Given the description of an element on the screen output the (x, y) to click on. 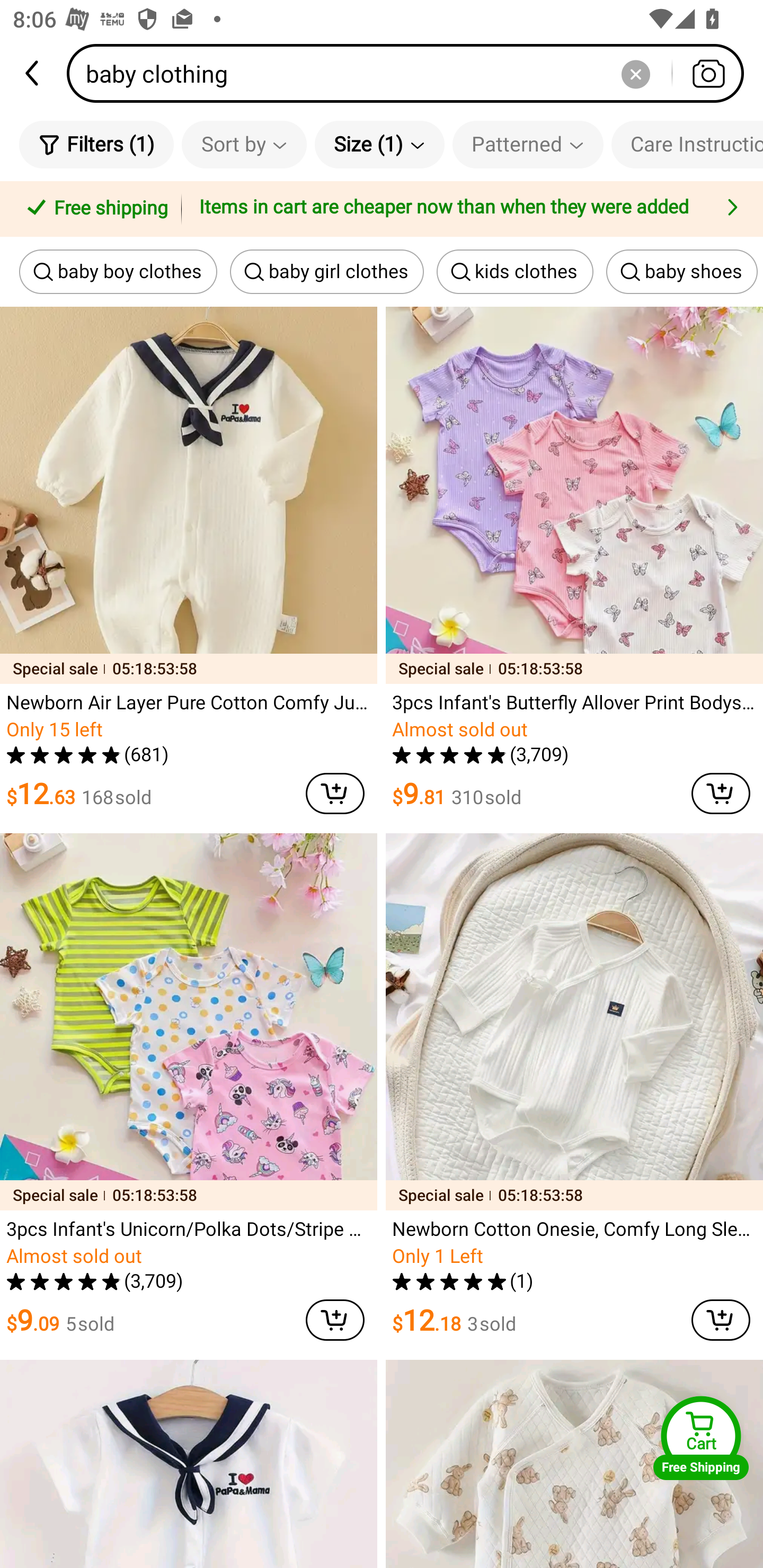
back (33, 72)
baby clothing (411, 73)
Delete search history (635, 73)
Search by photo (708, 73)
Filters (1) (96, 143)
Sort by (243, 143)
Size (1) (379, 143)
Patterned (527, 143)
Care Instructions (687, 143)
 Free shipping (93, 208)
baby boy clothes (118, 271)
baby girl clothes (326, 271)
kids clothes (514, 271)
baby shoes (681, 271)
cart delete (720, 1319)
Cart Free Shipping Cart (701, 1437)
